Given the description of an element on the screen output the (x, y) to click on. 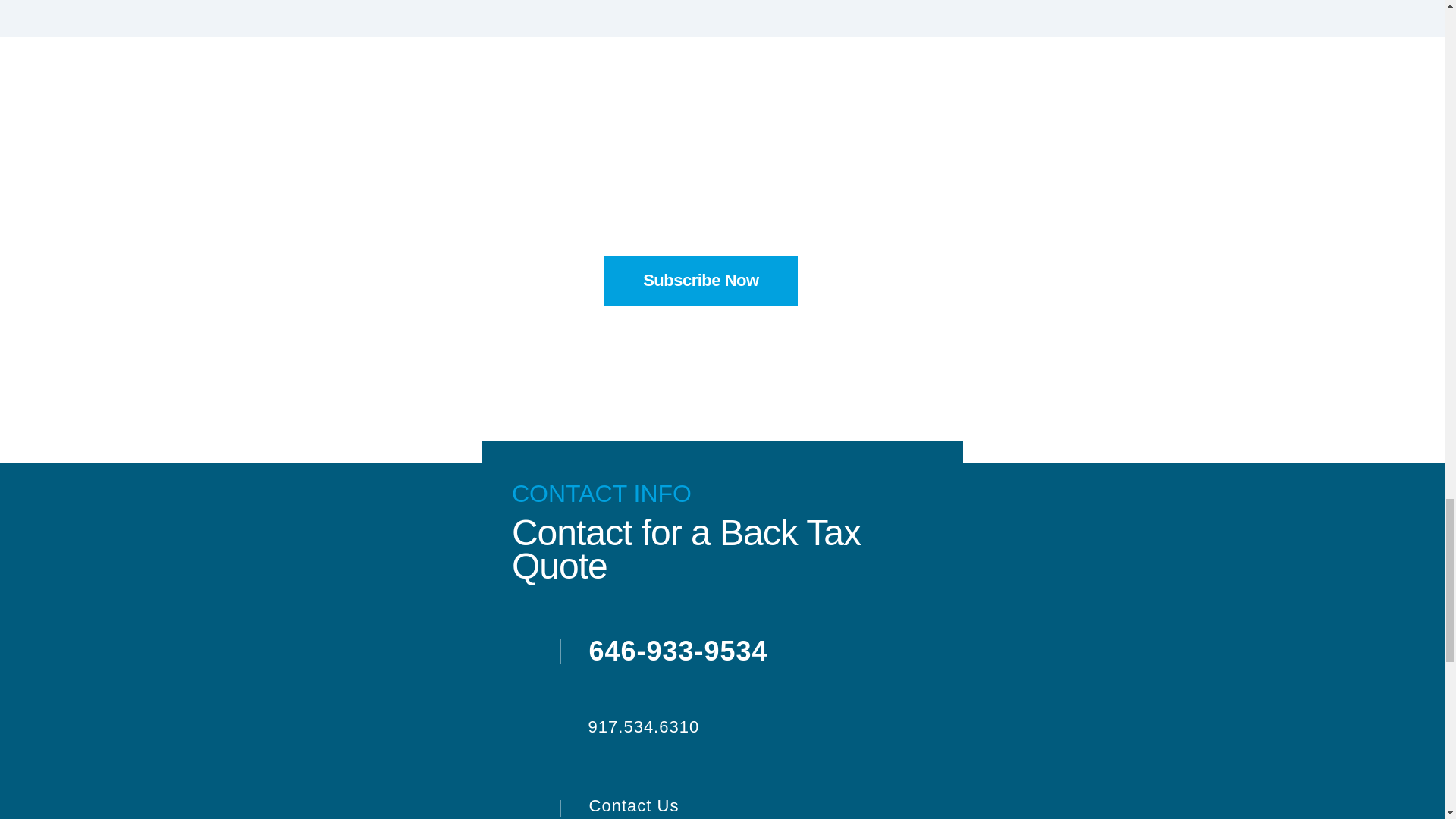
646-933-9534 (666, 653)
Subscribe Now (700, 280)
Contact Us (622, 804)
